Given the description of an element on the screen output the (x, y) to click on. 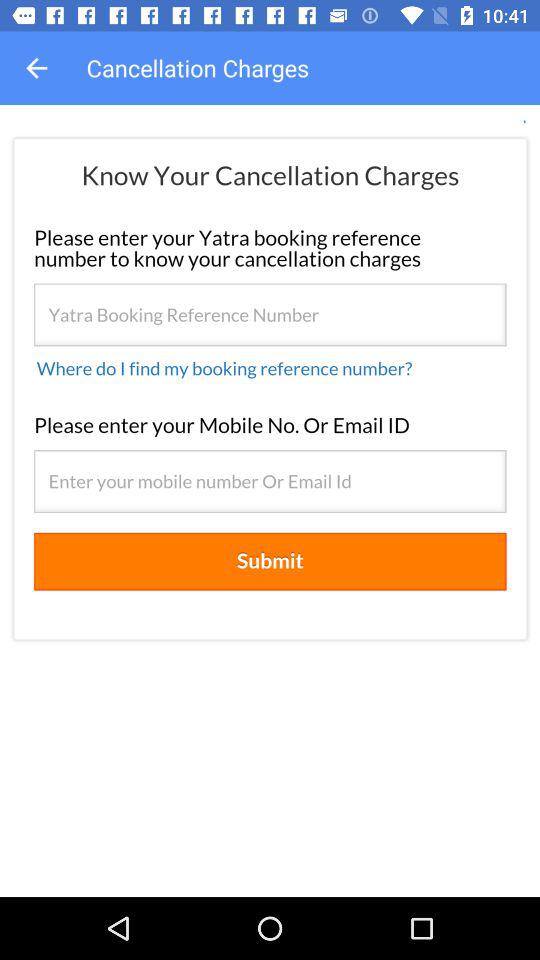
open the page (270, 501)
